Given the description of an element on the screen output the (x, y) to click on. 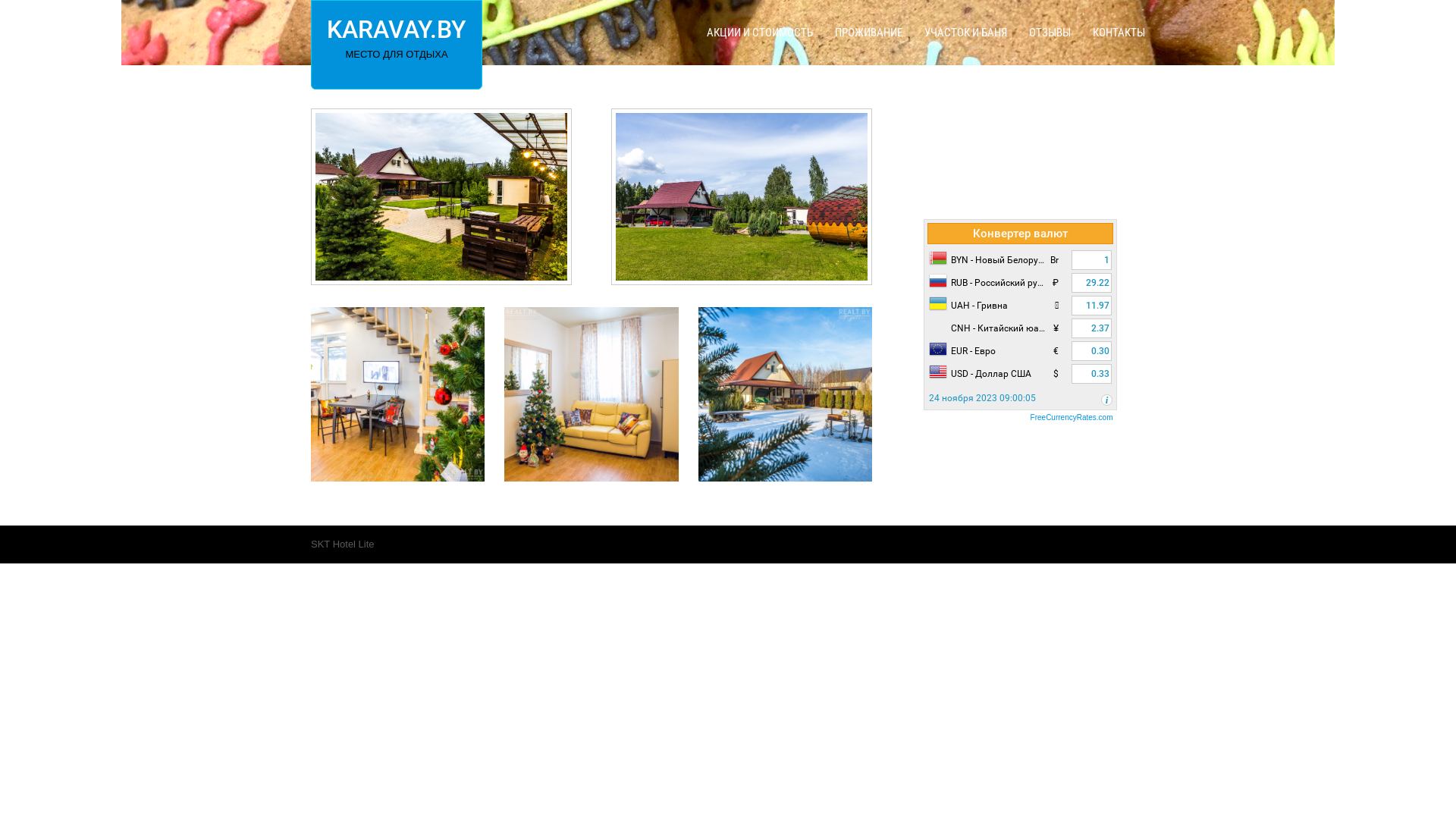
i Element type: text (1107, 400)
FreeCurrencyRates.com Element type: text (1019, 417)
